Given the description of an element on the screen output the (x, y) to click on. 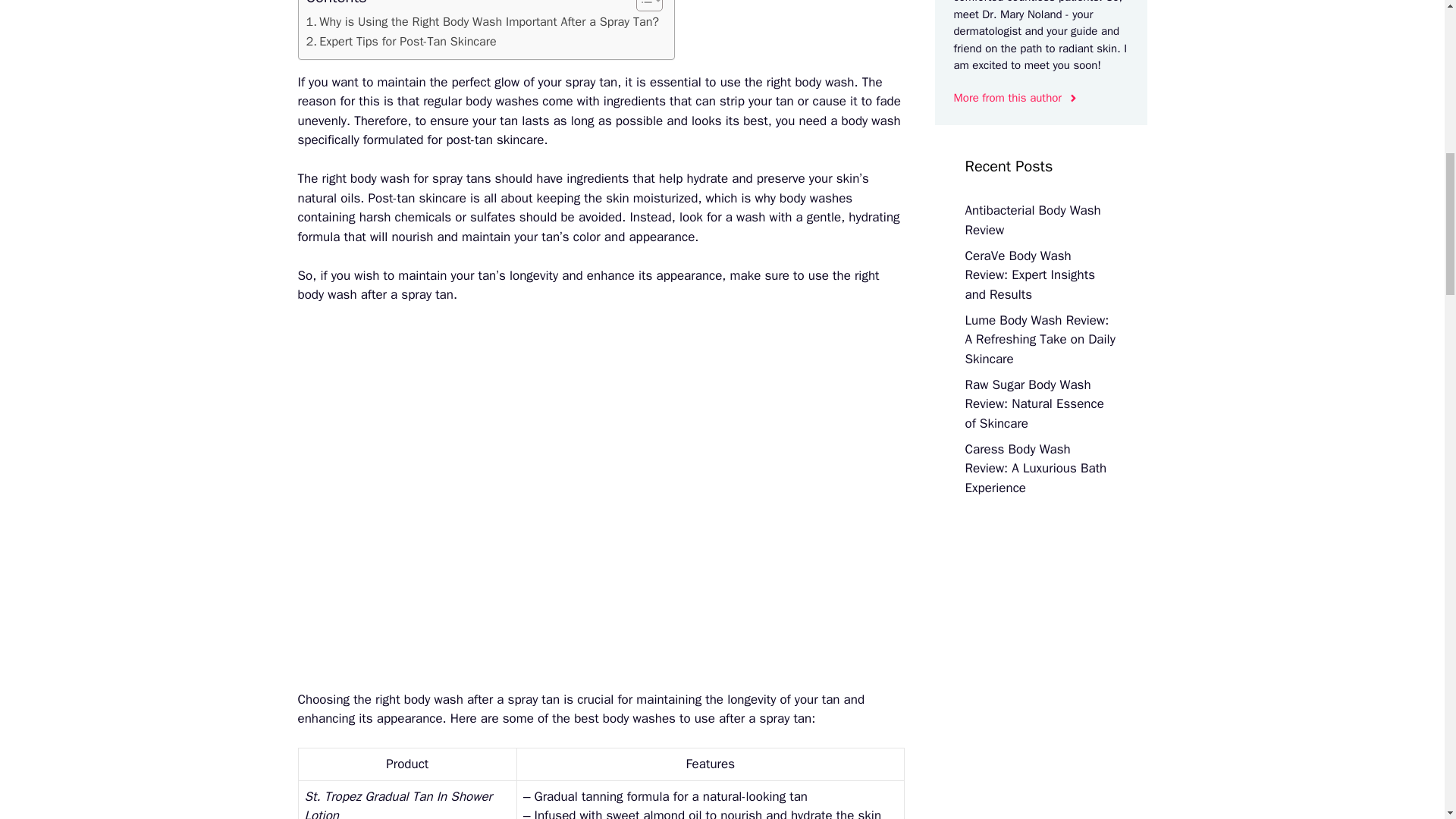
Raw Sugar Body Wash Review: Natural Essence of Skincare (1033, 403)
Antibacterial Body Wash Review (1031, 220)
Expert Tips for Post-Tan Skincare (400, 41)
More from this author (1015, 98)
Expert Tips for Post-Tan Skincare (400, 41)
Caress Body Wash Review: A Luxurious Bath Experience (1034, 468)
Lume Body Wash Review: A Refreshing Take on Daily Skincare (1039, 339)
